Given the description of an element on the screen output the (x, y) to click on. 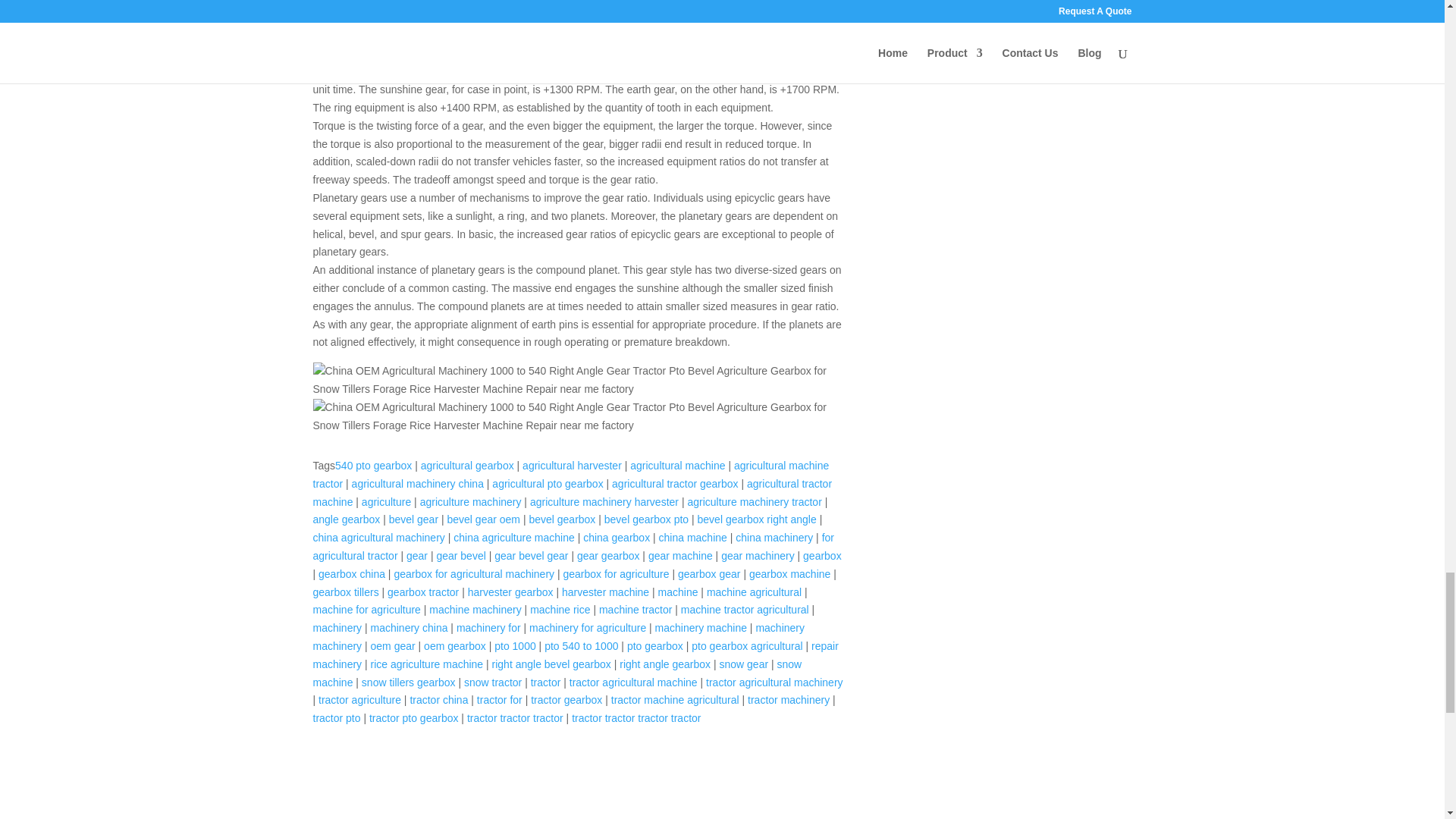
china gearbox (616, 537)
bevel gear (413, 519)
agriculture machinery (470, 501)
agricultural harvester (571, 465)
china machinery (773, 537)
china machine (692, 537)
china agriculture machine (513, 537)
agricultural gearbox (466, 465)
agriculture (385, 501)
agricultural machine tractor (570, 474)
